Given the description of an element on the screen output the (x, y) to click on. 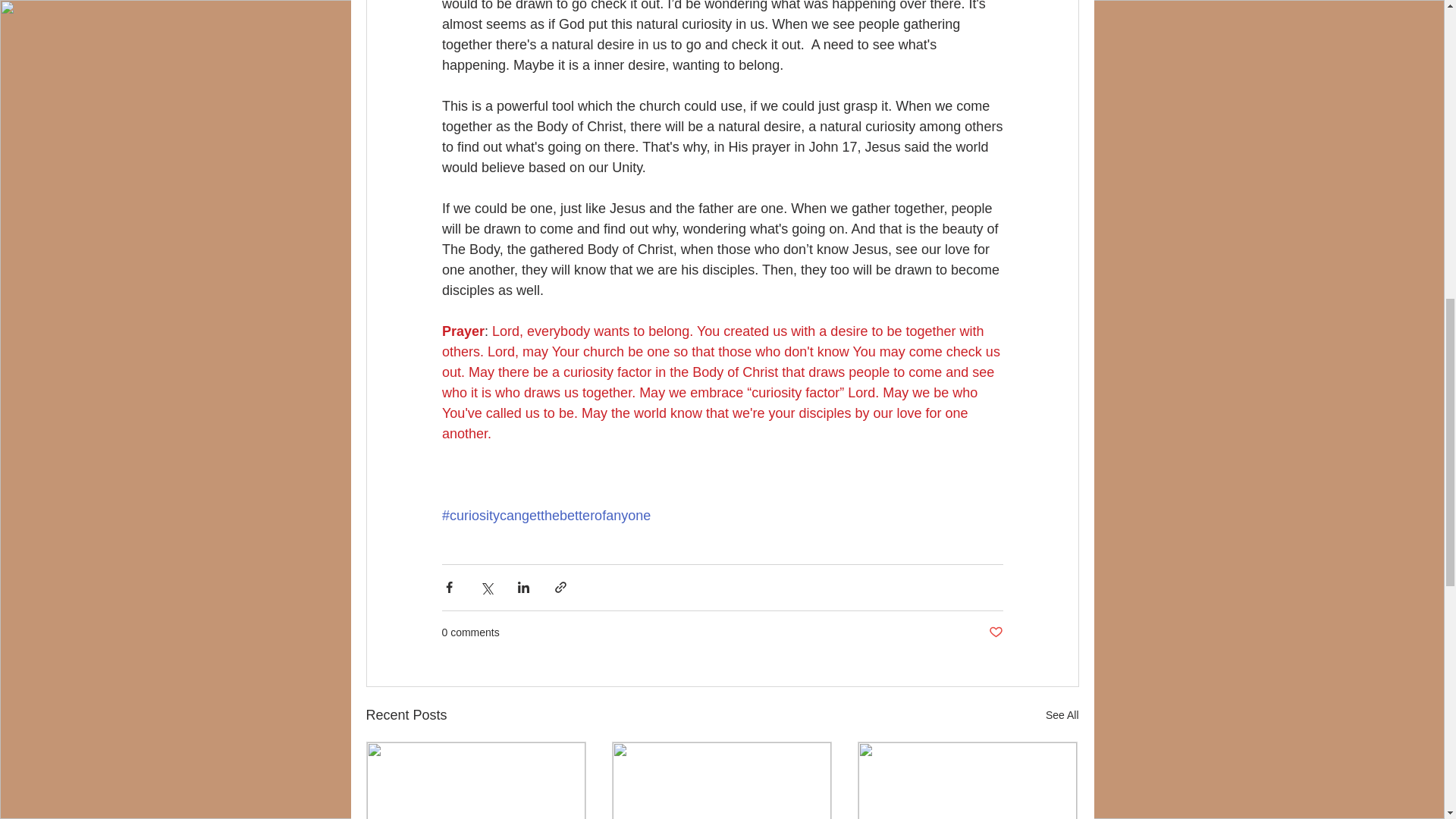
See All (1061, 715)
Post not marked as liked (995, 632)
